Given the description of an element on the screen output the (x, y) to click on. 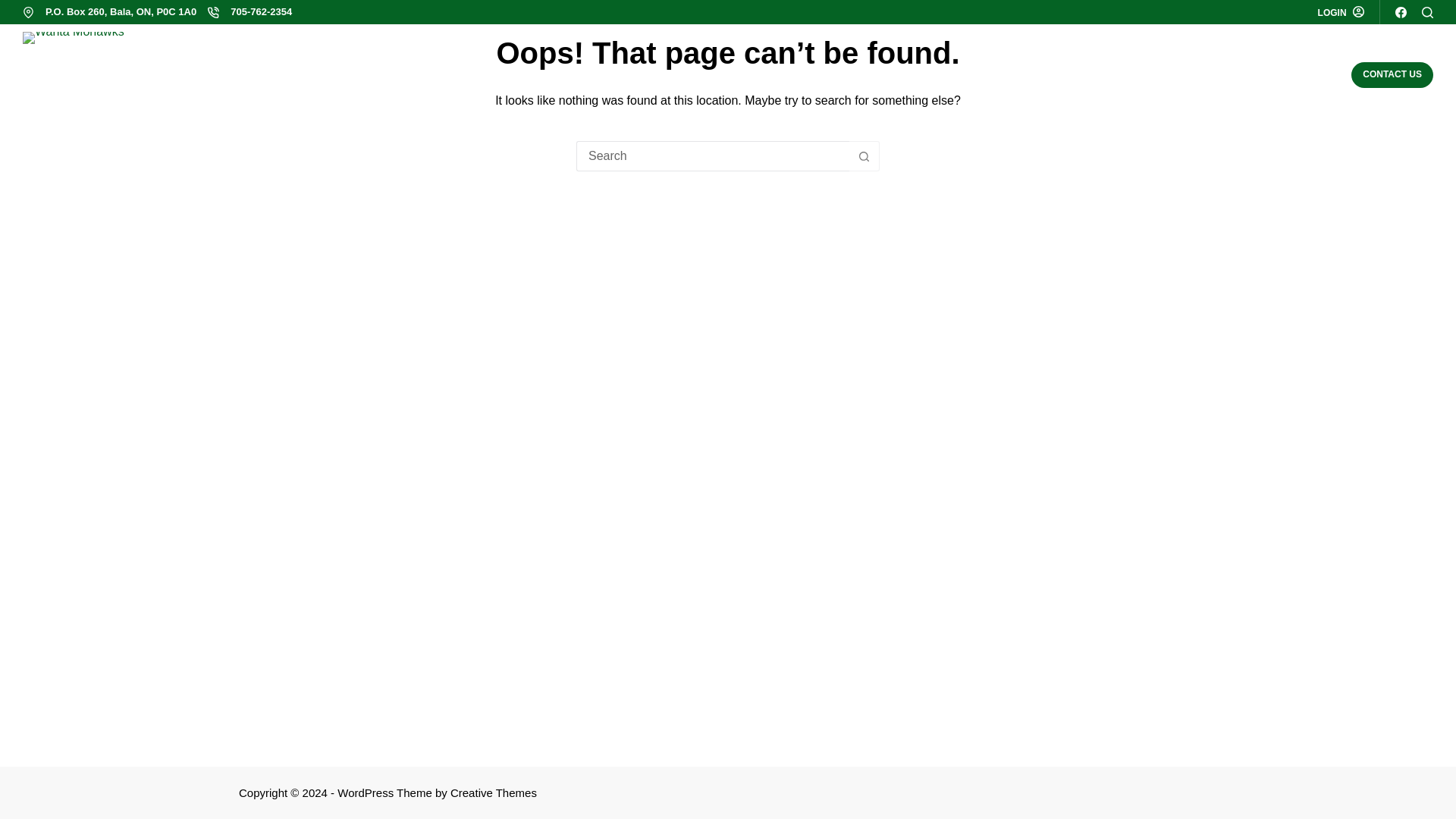
705-762-2354 (261, 11)
Search for... (712, 155)
LOGIN (1340, 12)
Skip to content (15, 7)
